Given the description of an element on the screen output the (x, y) to click on. 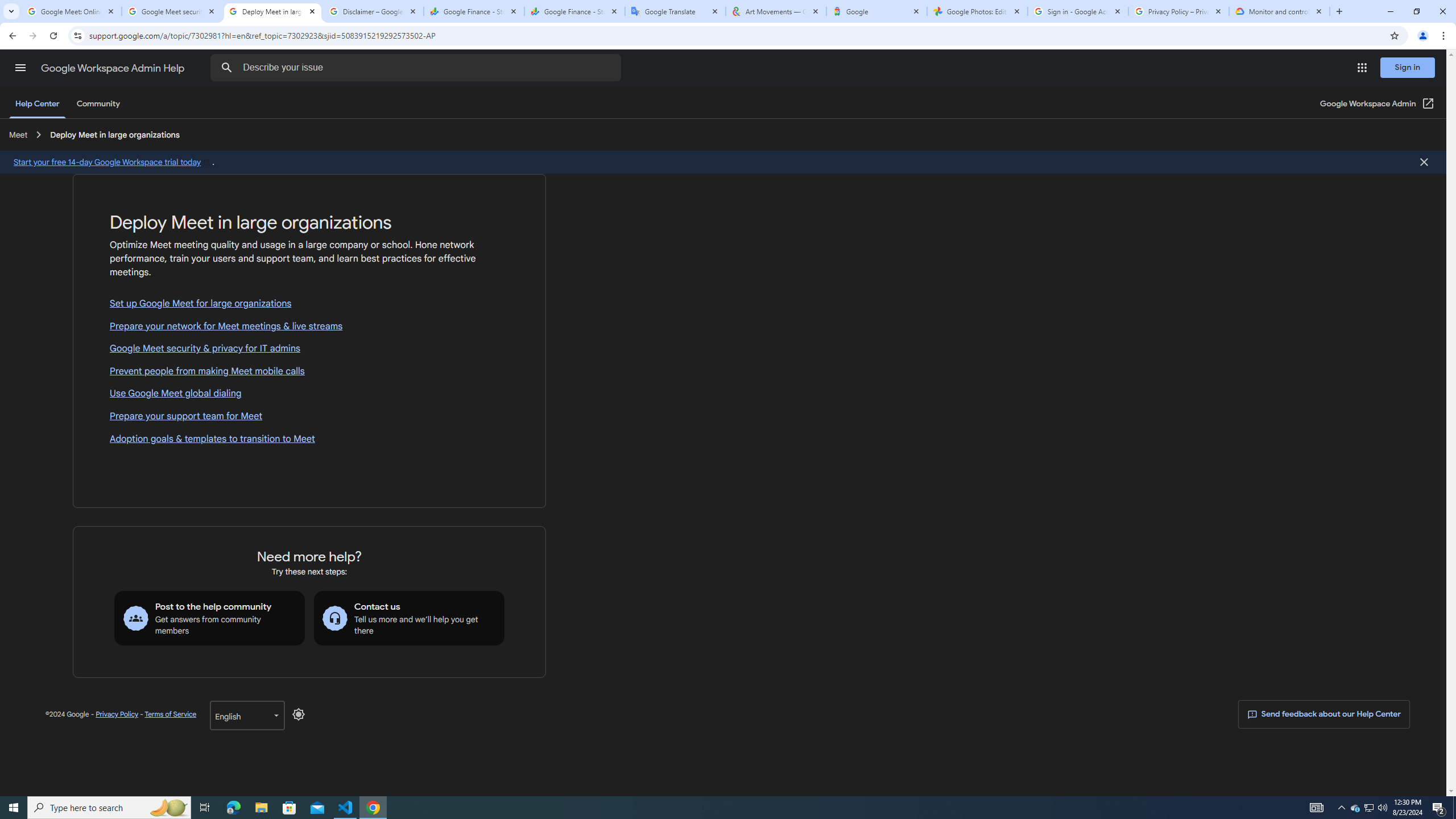
Start your free 14-day Google Workspace trial today (112, 162)
Terms of Service (170, 714)
Main menu (20, 67)
Adoption goals & templates to transition to Meet (309, 438)
Help Center (36, 103)
Disable Dark Mode (299, 714)
Privacy Policy (117, 714)
Meet  (17, 134)
 Send feedback about our Help Center (1323, 714)
